Given the description of an element on the screen output the (x, y) to click on. 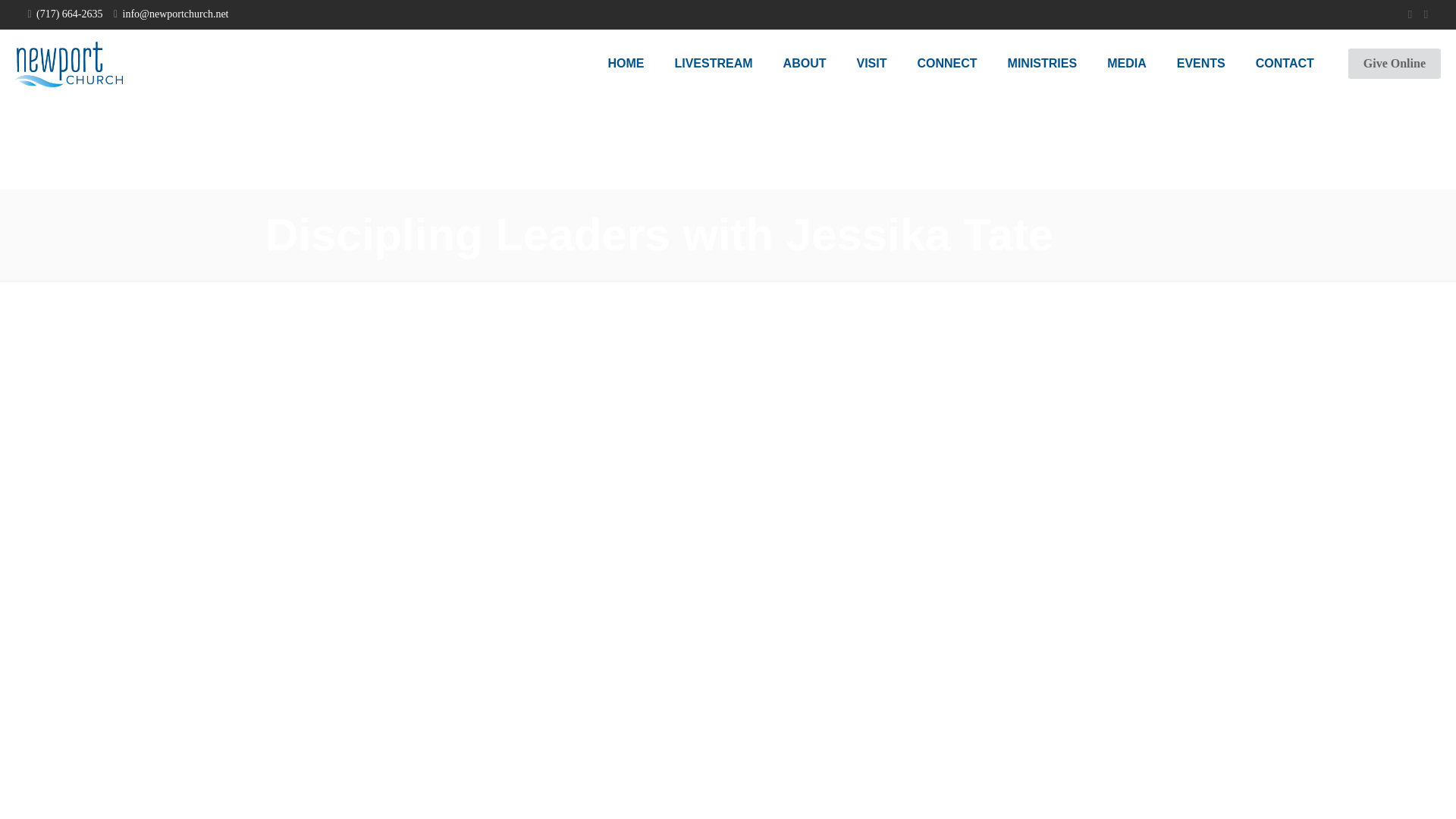
Instagram (1426, 14)
MEDIA (1126, 63)
LIVESTREAM (713, 63)
ABOUT (804, 63)
Facebook (1410, 14)
VISIT (871, 63)
HOME (625, 63)
CONNECT (946, 63)
Newport Church (68, 63)
MINISTRIES (1042, 63)
